Given the description of an element on the screen output the (x, y) to click on. 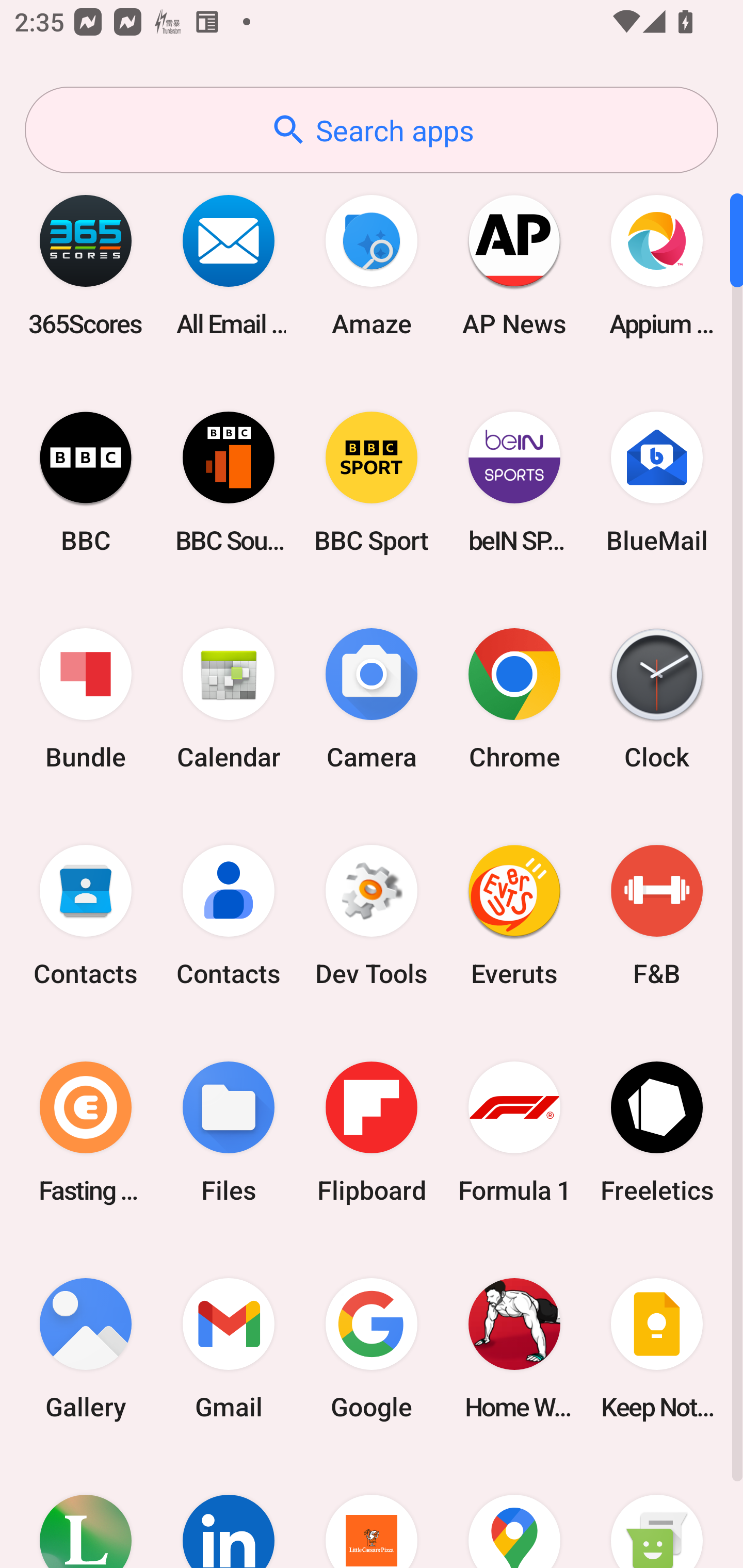
  Search apps (371, 130)
365Scores (85, 264)
All Email Connect (228, 264)
Amaze (371, 264)
AP News (514, 264)
Appium Settings (656, 264)
BBC (85, 482)
BBC Sounds (228, 482)
BBC Sport (371, 482)
beIN SPORTS (514, 482)
BlueMail (656, 482)
Bundle (85, 699)
Calendar (228, 699)
Camera (371, 699)
Chrome (514, 699)
Clock (656, 699)
Contacts (85, 915)
Contacts (228, 915)
Dev Tools (371, 915)
Everuts (514, 915)
F&B (656, 915)
Fasting Coach (85, 1131)
Files (228, 1131)
Flipboard (371, 1131)
Formula 1 (514, 1131)
Freeletics (656, 1131)
Gallery (85, 1348)
Gmail (228, 1348)
Google (371, 1348)
Home Workout (514, 1348)
Keep Notes (656, 1348)
